Given the description of an element on the screen output the (x, y) to click on. 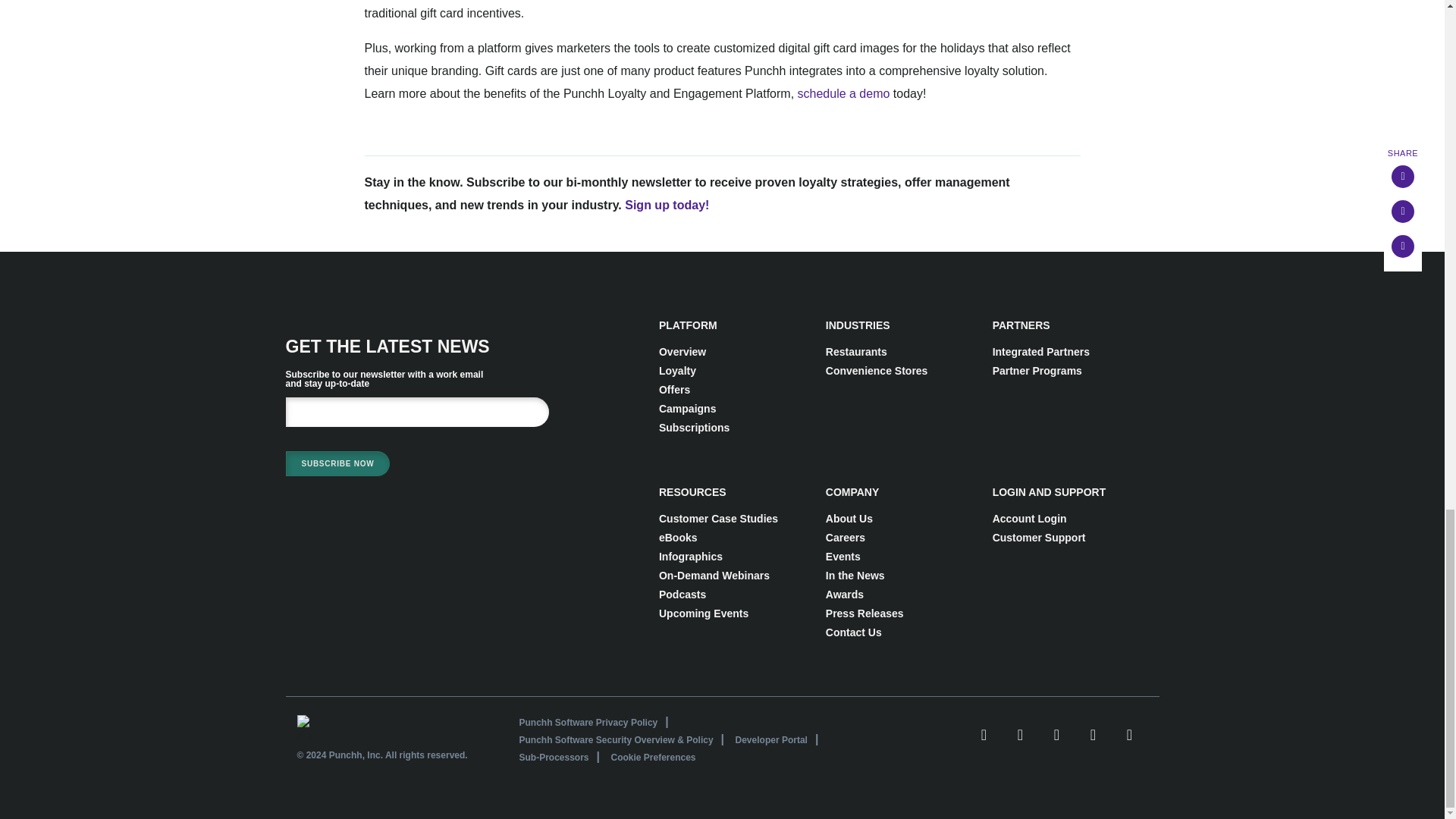
SUBSCRIBE NOW (337, 462)
